Given the description of an element on the screen output the (x, y) to click on. 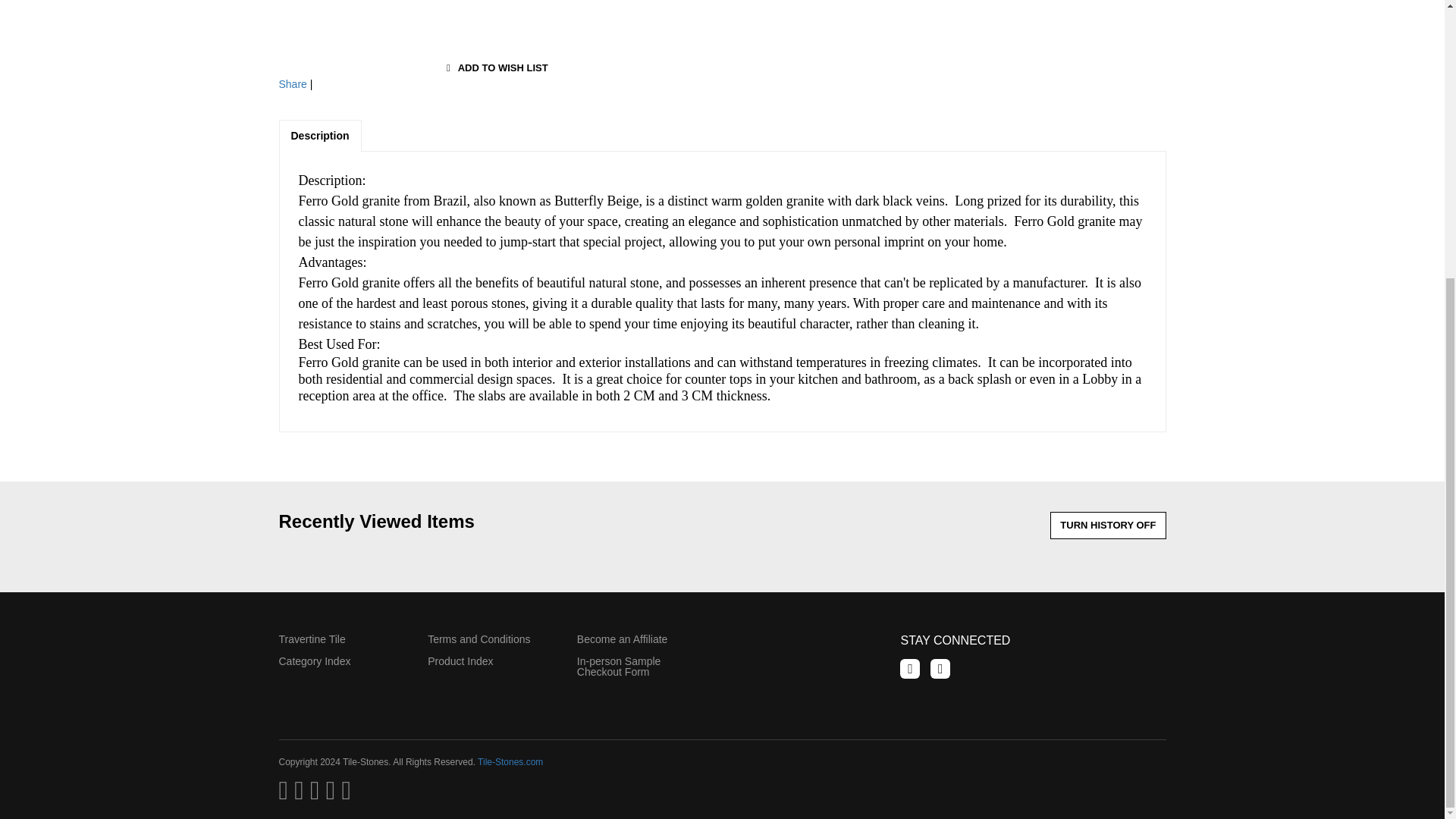
Like Us on Facebook (909, 668)
Follow Us on Pinterest (940, 668)
